Given the description of an element on the screen output the (x, y) to click on. 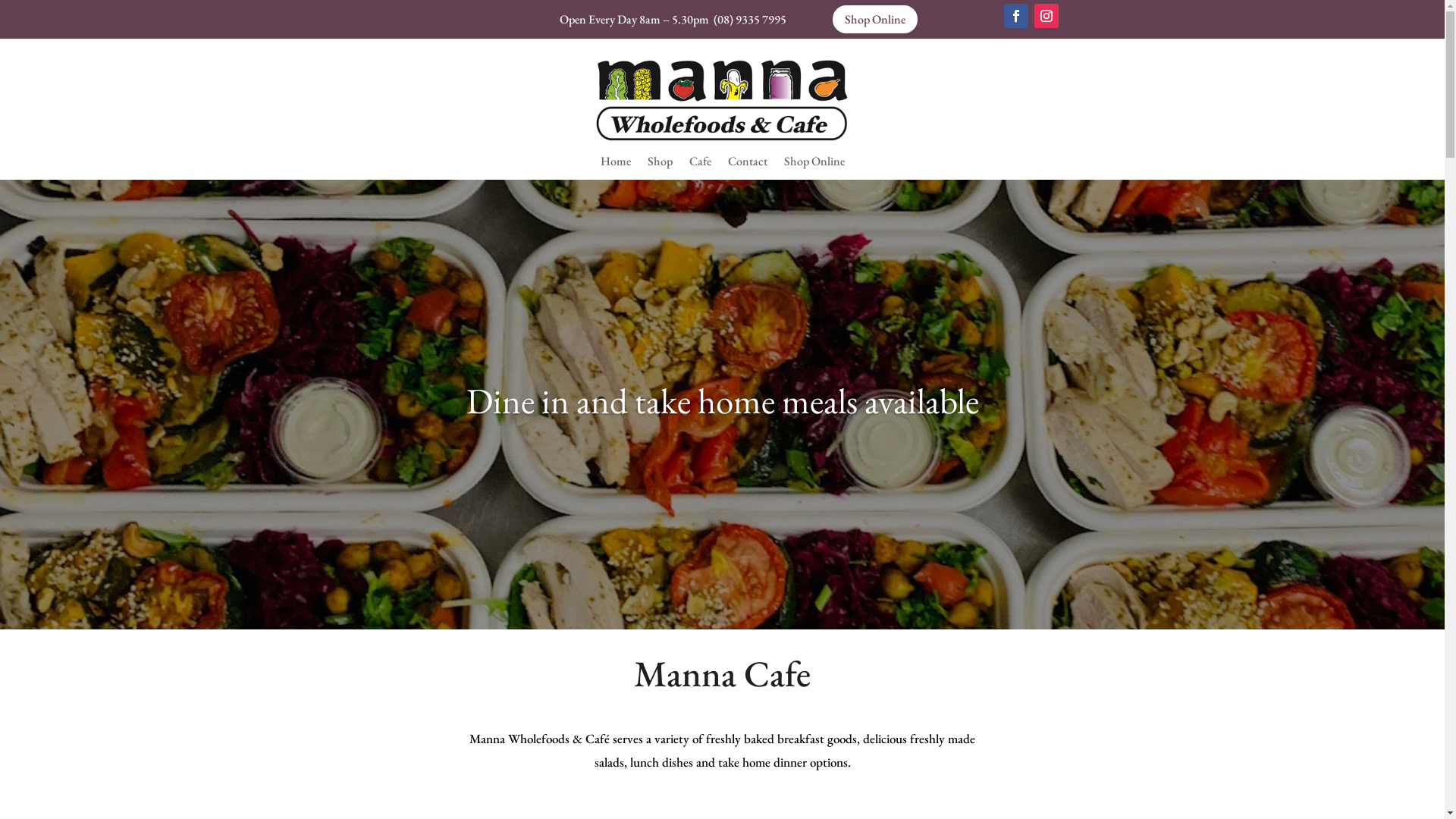
Shop Online Element type: text (875, 18)
Manna Wholefoods Element type: hover (721, 100)
Contact Element type: text (747, 164)
Cafe Element type: text (699, 164)
Dine in and take home meals available Element type: text (721, 400)
Follow on Instagram Element type: hover (1046, 15)
Follow on Facebook Element type: hover (1016, 15)
(08) 9335 7995 Element type: text (749, 19)
Home Element type: text (615, 164)
Shop Online Element type: text (814, 164)
Shop Element type: text (659, 164)
